Given the description of an element on the screen output the (x, y) to click on. 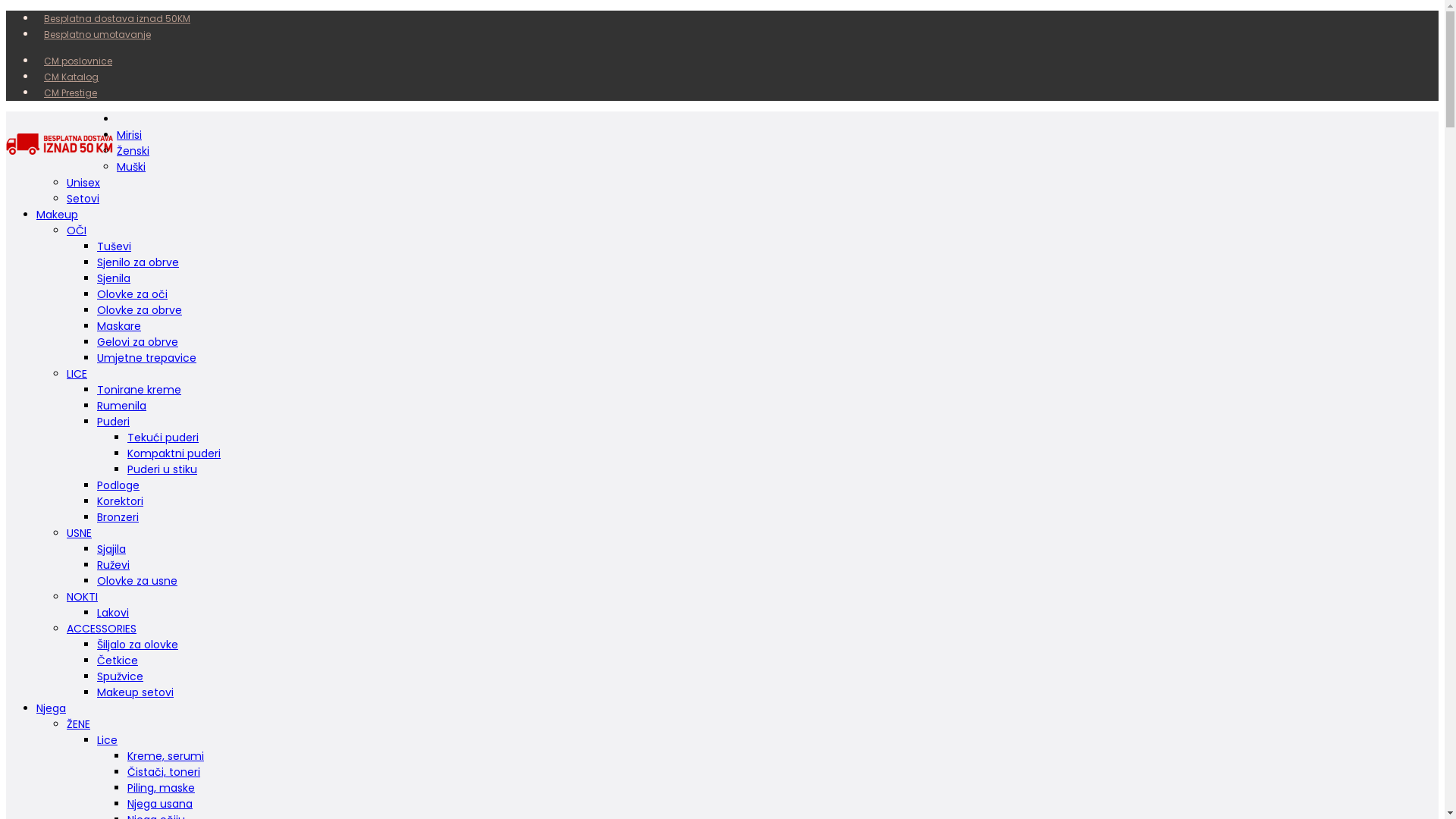
Puderi Element type: text (113, 421)
Makeup setovi Element type: text (135, 691)
Njega Element type: text (50, 707)
Besplatno umotavanje Element type: text (97, 34)
Sjajila Element type: text (111, 548)
Podloge Element type: text (118, 484)
Rumenila Element type: text (121, 405)
Kompaktni puderi Element type: text (173, 453)
Sjenilo za obrve Element type: text (137, 261)
ACCESSORIES Element type: text (101, 628)
Puderi u stiku Element type: text (162, 468)
CM Prestige Element type: text (70, 92)
Korektori Element type: text (120, 500)
CM poslovnice Element type: text (77, 60)
Maskare Element type: text (119, 325)
Mirisi Element type: text (128, 134)
CM Katalog Element type: text (71, 76)
Sjenila Element type: text (113, 277)
Lakovi Element type: text (112, 612)
NOKTI Element type: text (81, 596)
Unisex Element type: text (83, 182)
Gelovi za obrve Element type: text (137, 341)
USNE Element type: text (78, 532)
Setovi Element type: text (82, 198)
LICE Element type: text (76, 373)
Njega usana Element type: text (159, 803)
Olovke za usne Element type: text (137, 580)
Makeup Element type: text (57, 214)
Kreme, serumi Element type: text (165, 755)
Olovke za obrve Element type: text (139, 309)
Bronzeri Element type: text (117, 516)
Piling, maske Element type: text (160, 787)
Tonirane kreme Element type: text (139, 389)
Umjetne trepavice Element type: text (146, 357)
Besplatna dostava iznad 50KM Element type: text (116, 18)
Lice Element type: text (107, 739)
